Given the description of an element on the screen output the (x, y) to click on. 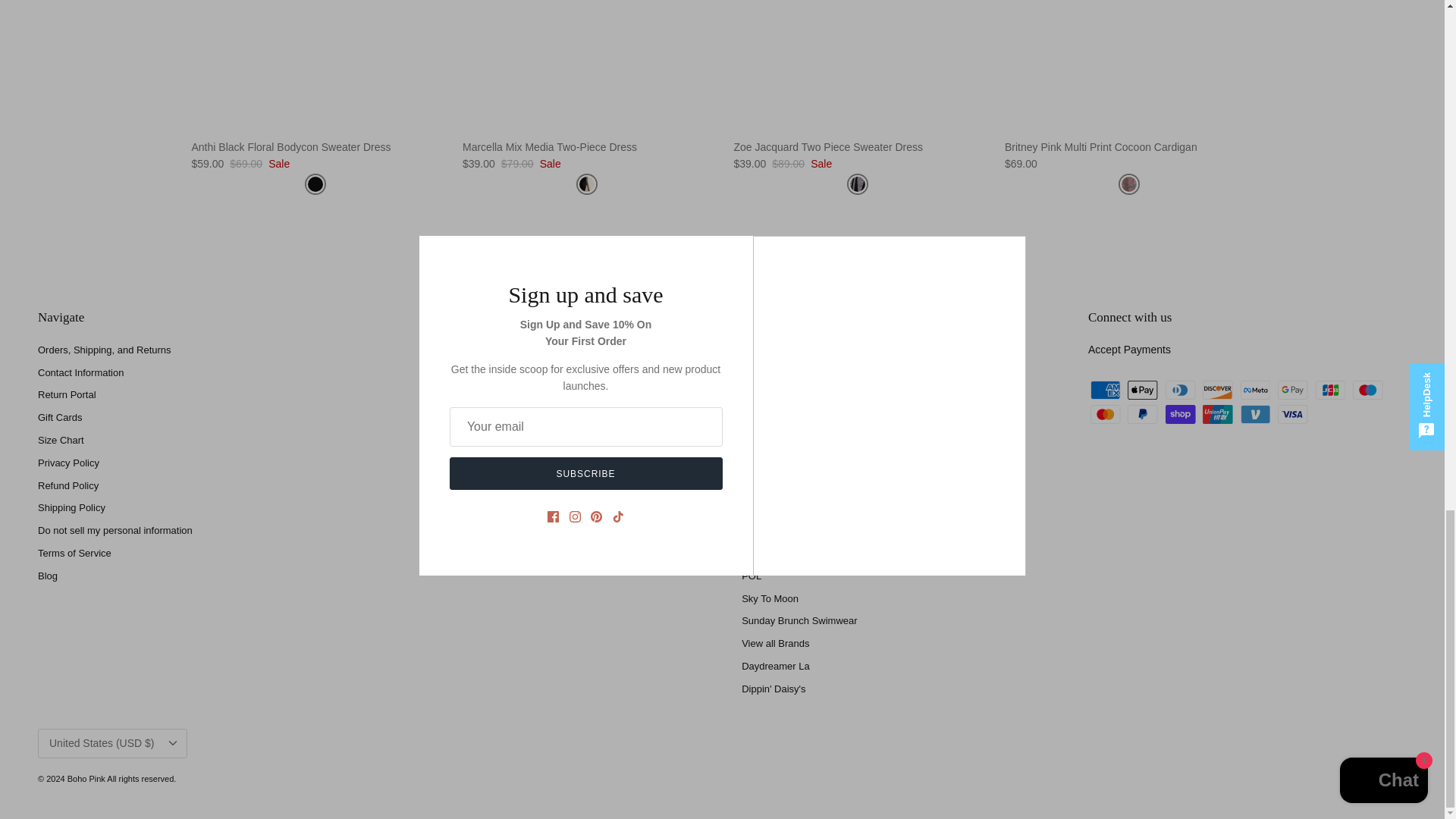
Diners Club (1180, 389)
Discover (1217, 389)
Apple Pay (1141, 389)
Meta Pay (1255, 389)
American Express (1105, 389)
